Given the description of an element on the screen output the (x, y) to click on. 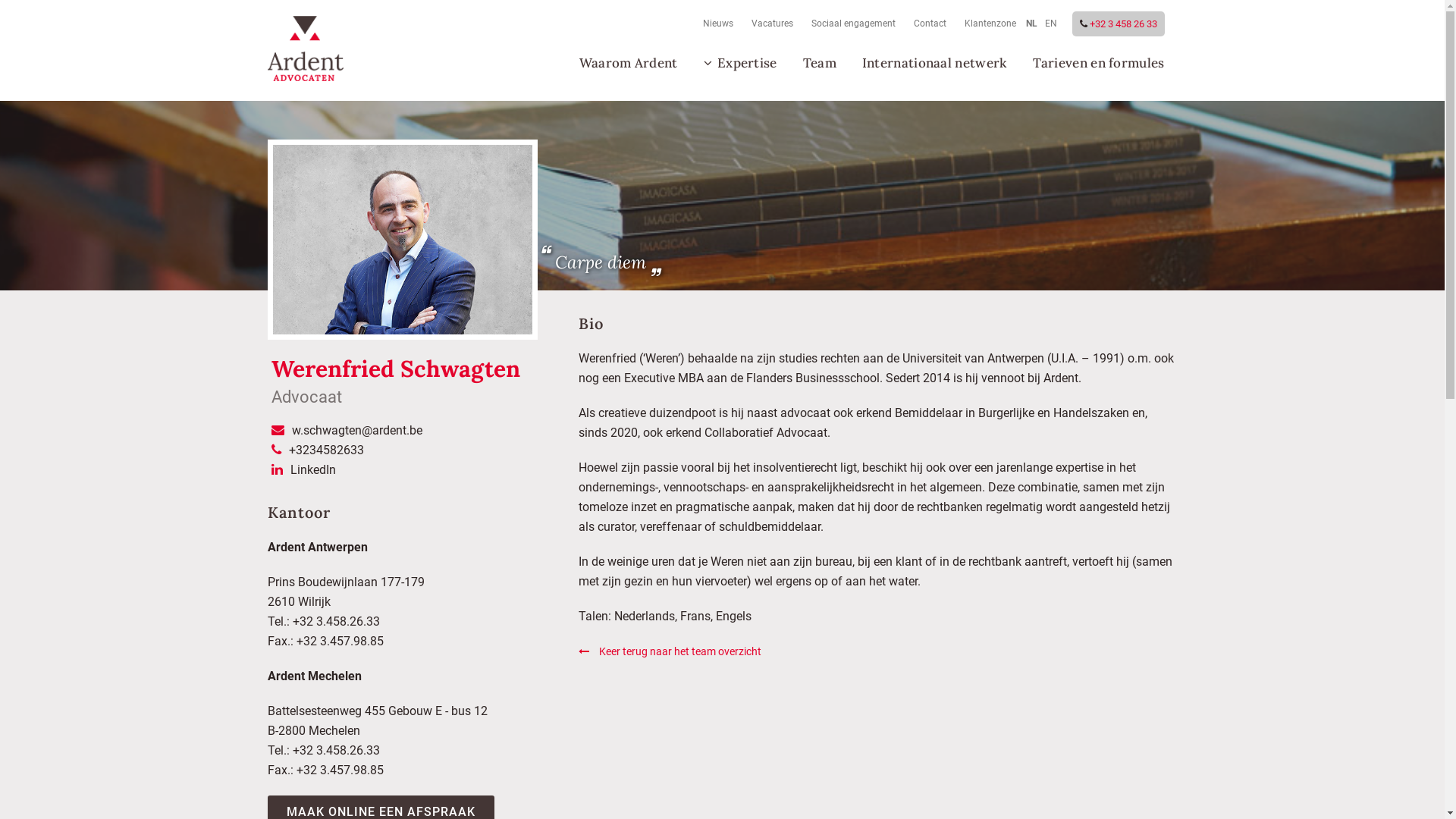
Waarom Ardent Element type: text (628, 62)
LinkedIn Element type: text (312, 469)
Expertise Element type: text (740, 62)
EN Element type: text (1050, 23)
+32 3 458 26 33 Element type: text (1122, 23)
Klantenzone Element type: text (987, 23)
w.schwagten@ardent.be Element type: text (356, 430)
Internationaal netwerk Element type: text (934, 62)
Vacatures Element type: text (768, 23)
Keer terug naar het team overzicht Element type: text (668, 651)
Sociaal engagement Element type: text (850, 23)
+3234582633 Element type: text (325, 449)
Team Element type: text (819, 62)
Tarieven en formules Element type: text (1097, 62)
NL Element type: text (1031, 23)
Contact Element type: text (925, 23)
Nieuws Element type: text (714, 23)
